Given the description of an element on the screen output the (x, y) to click on. 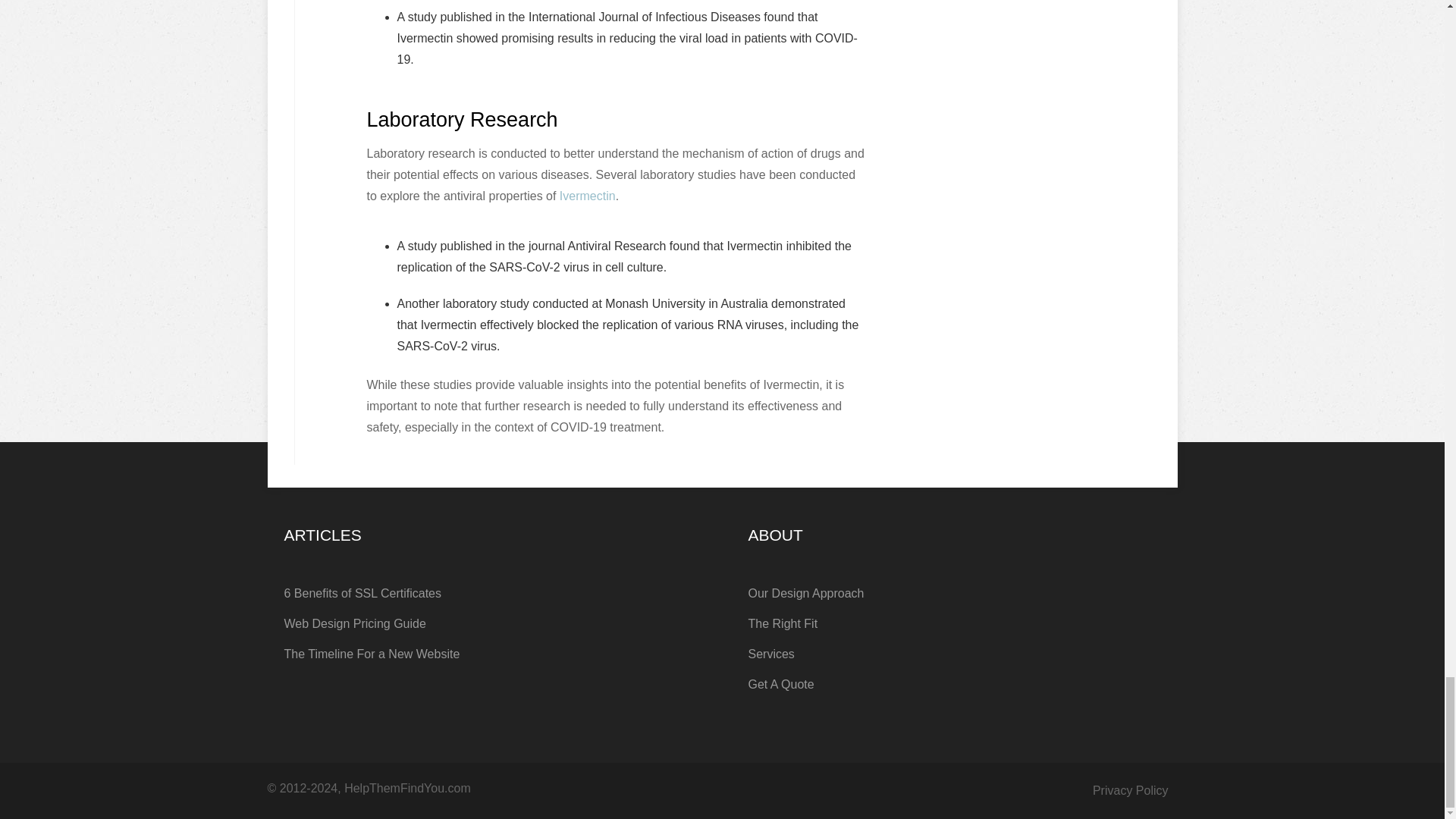
Ivermectin (587, 195)
Our Design Approach (954, 593)
Web Design Pricing Guide (489, 624)
Get A Quote (954, 684)
Privacy Policy (1131, 789)
Services (954, 654)
6 Benefits of SSL Certificates (489, 593)
The Right Fit (954, 624)
The Timeline For a New Website (489, 654)
